Given the description of an element on the screen output the (x, y) to click on. 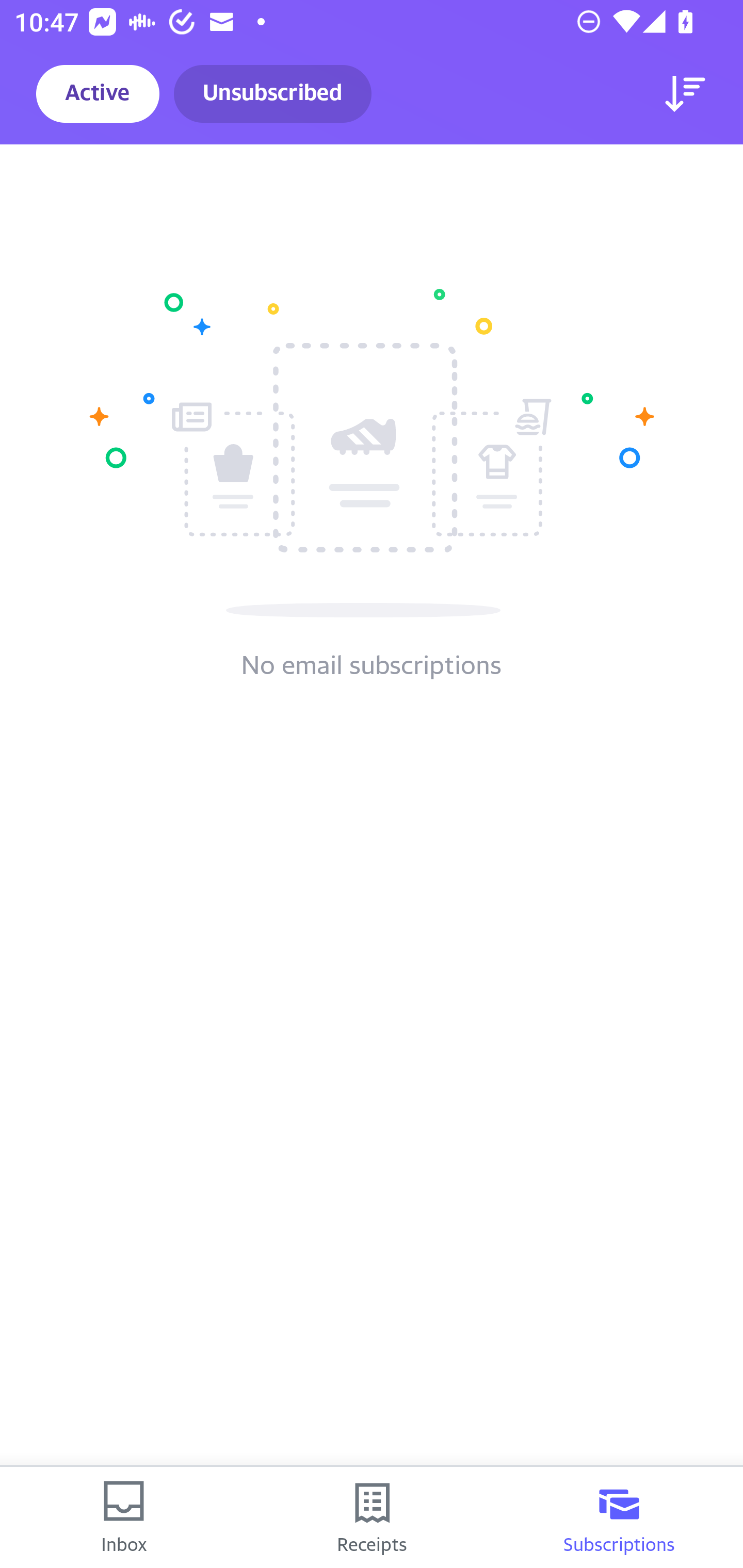
Unsubscribed (272, 93)
Sort (684, 93)
Inbox (123, 1517)
Receipts (371, 1517)
Subscriptions (619, 1517)
